Given the description of an element on the screen output the (x, y) to click on. 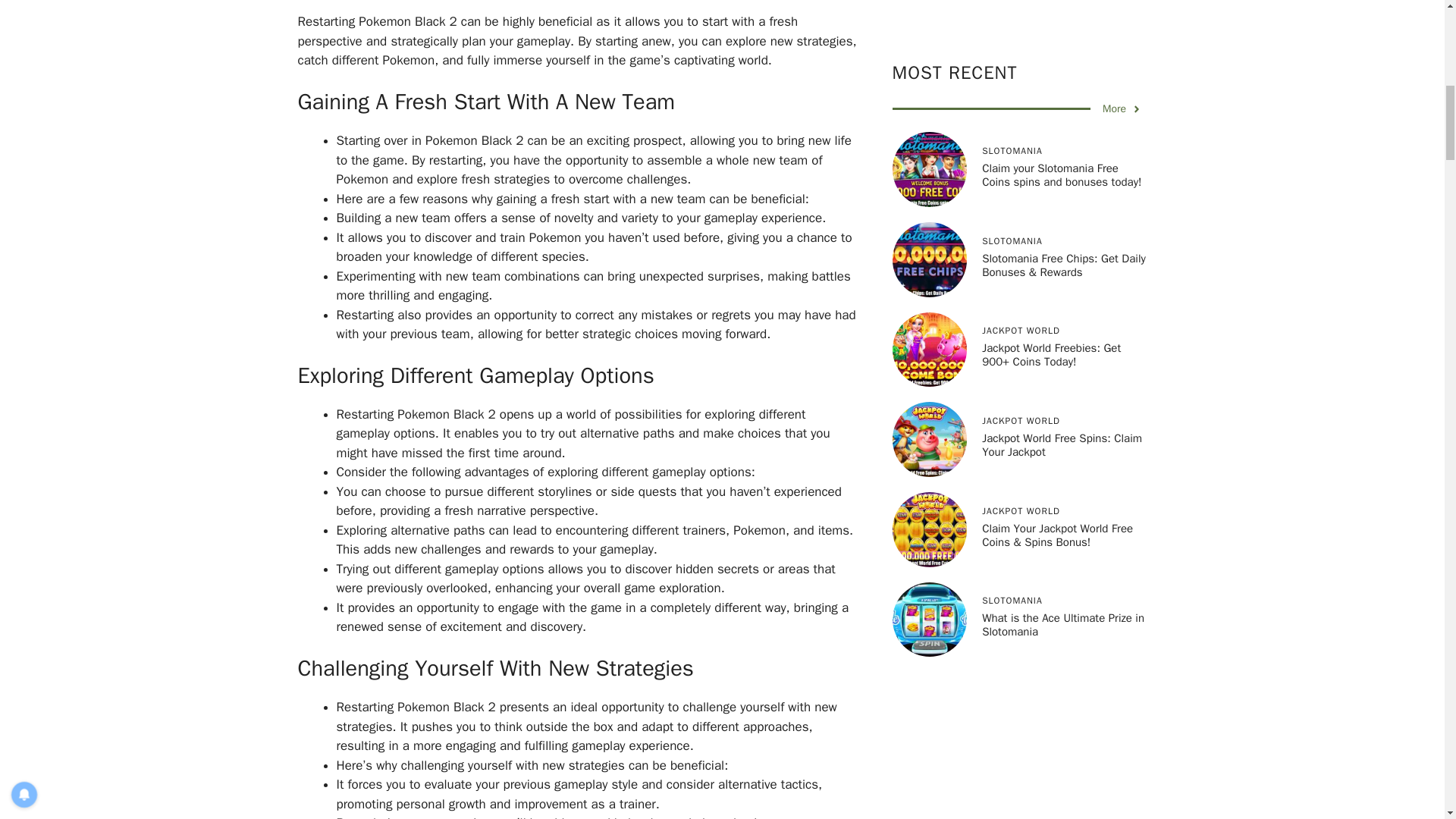
Jackpot World Free Spins: Claim Your Jackpot (1061, 42)
What is the Ace Ultimate Prize in Slotomania (1062, 221)
